Given the description of an element on the screen output the (x, y) to click on. 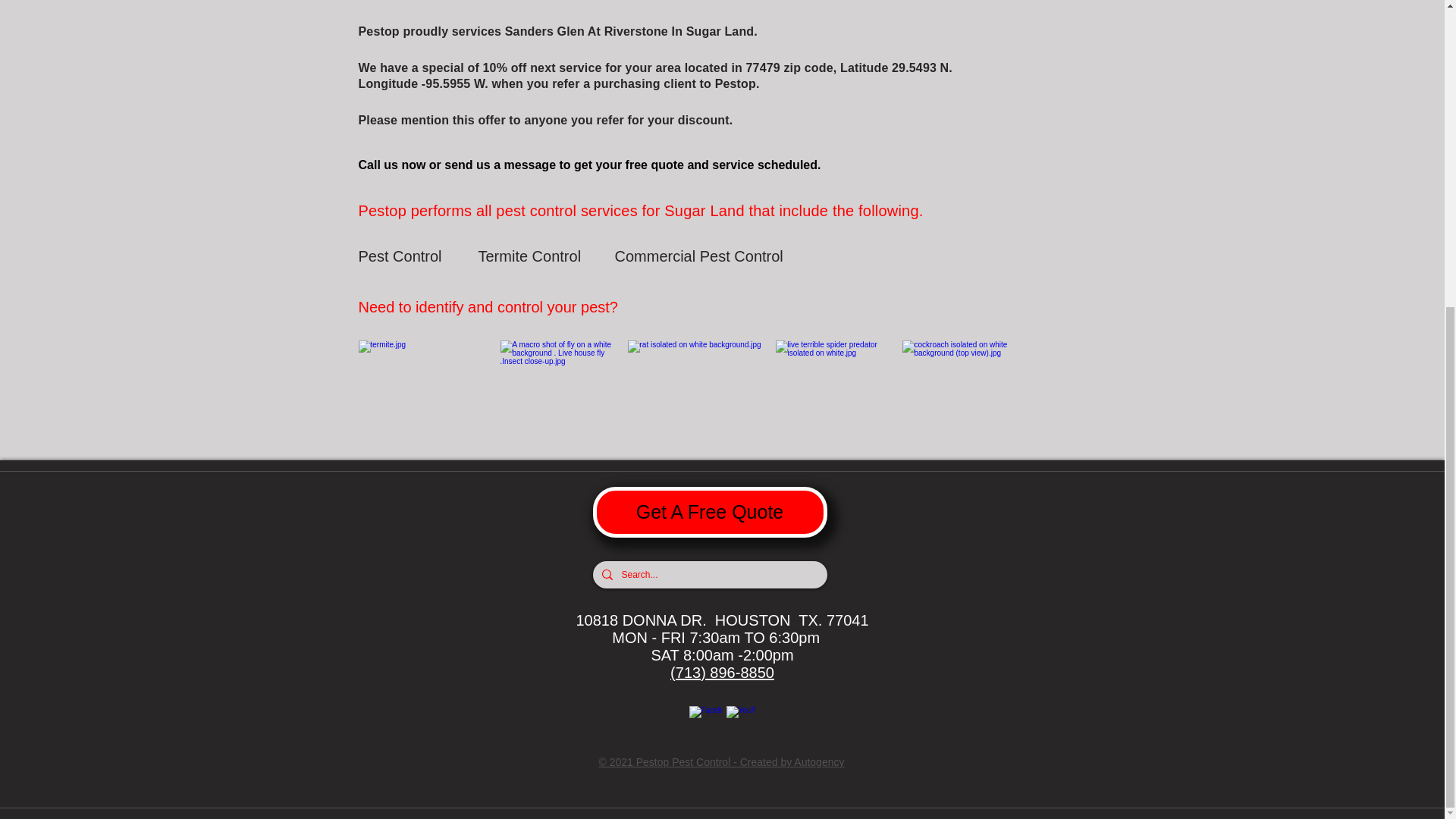
Termite Control (531, 255)
Get A Free Quote (709, 511)
Pest Control (411, 255)
Commercial Pest Control (698, 255)
Need to identify and control your pest? (496, 306)
